Given the description of an element on the screen output the (x, y) to click on. 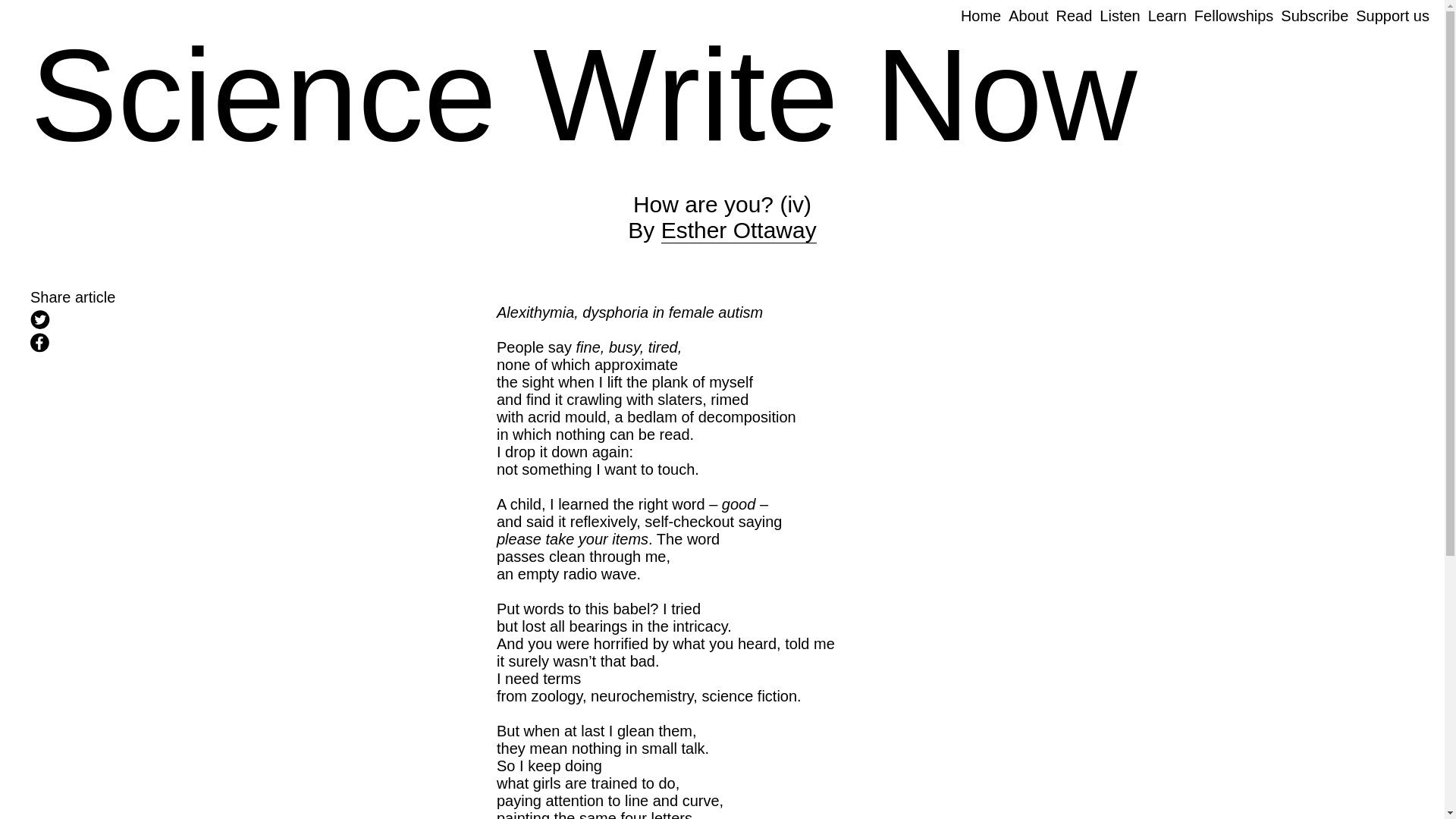
About (1028, 15)
Subscribe (1119, 15)
Fellowships (1314, 15)
Share on Facebook (1232, 15)
Support us (166, 344)
Home (1392, 15)
Tweet this (980, 15)
Read (166, 321)
Esther Ottaway (1073, 15)
Learn (738, 230)
